Given the description of an element on the screen output the (x, y) to click on. 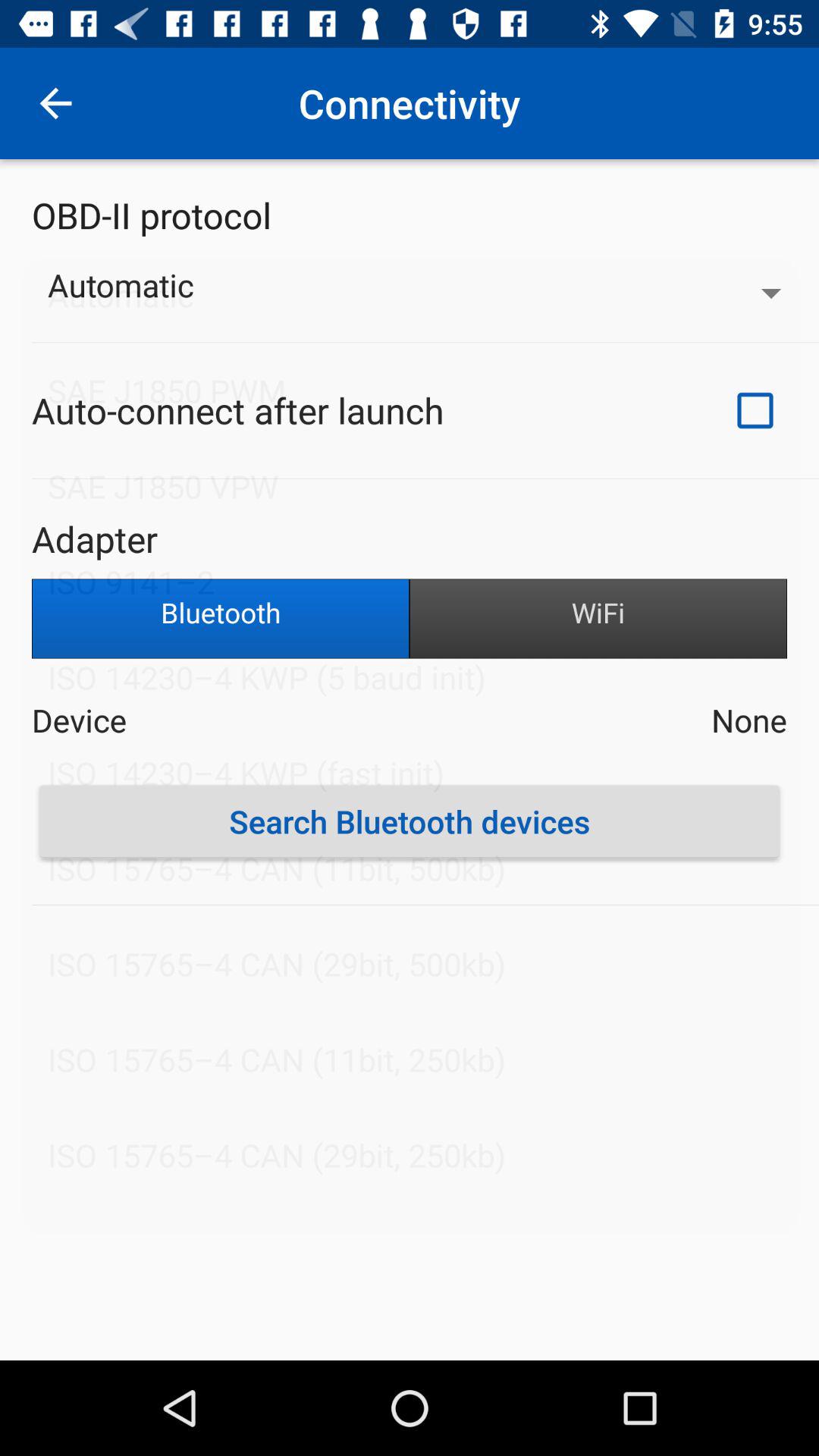
turn on the icon above the none item (598, 618)
